Given the description of an element on the screen output the (x, y) to click on. 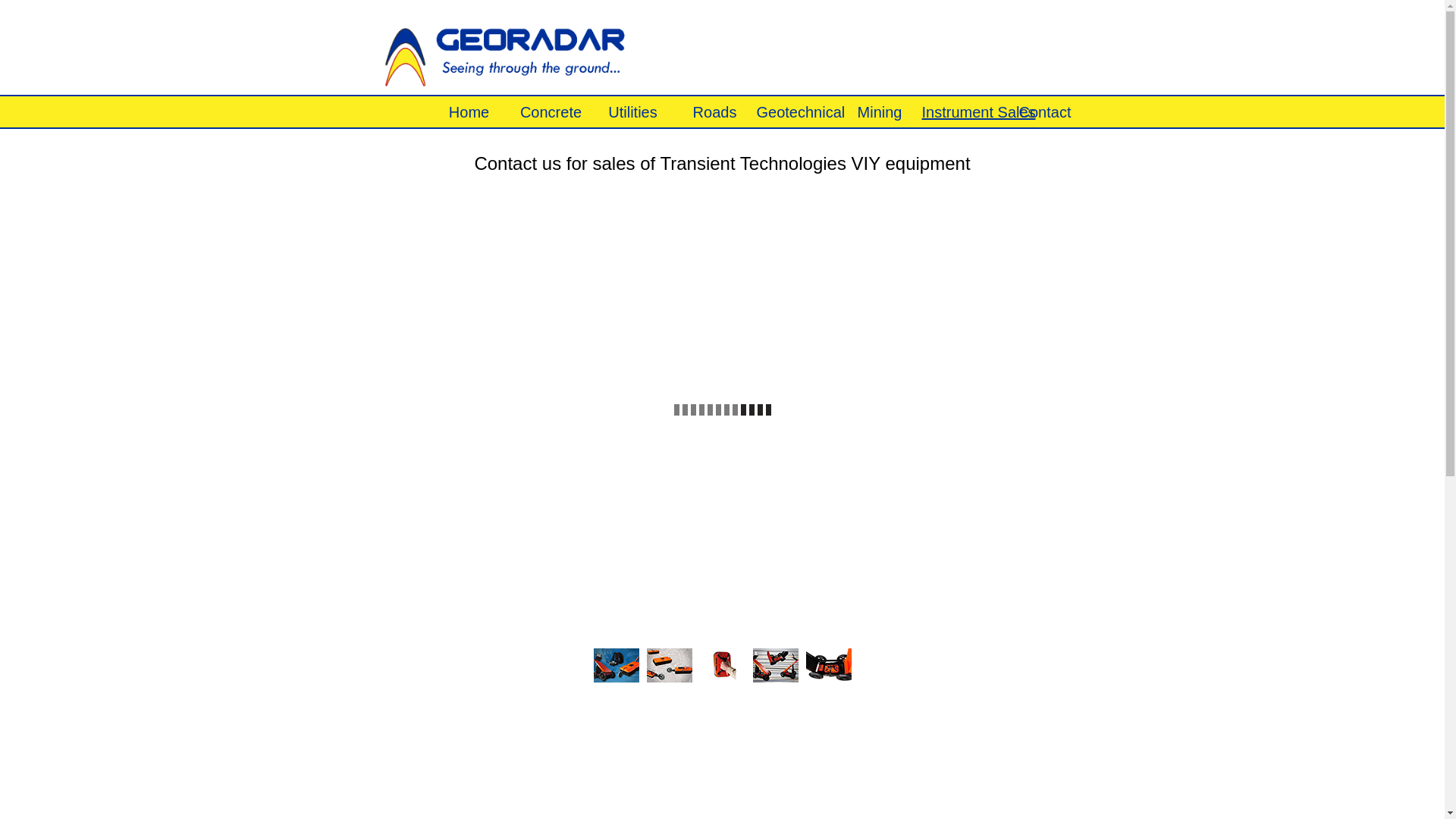
Instrument Sales Element type: text (962, 112)
Contact Element type: text (1044, 112)
Geotechnical Element type: text (796, 112)
Mining Element type: text (878, 112)
Concrete Element type: text (551, 112)
Roads Element type: text (714, 112)
Home Element type: text (469, 112)
Utilities Element type: text (633, 112)
